Given the description of an element on the screen output the (x, y) to click on. 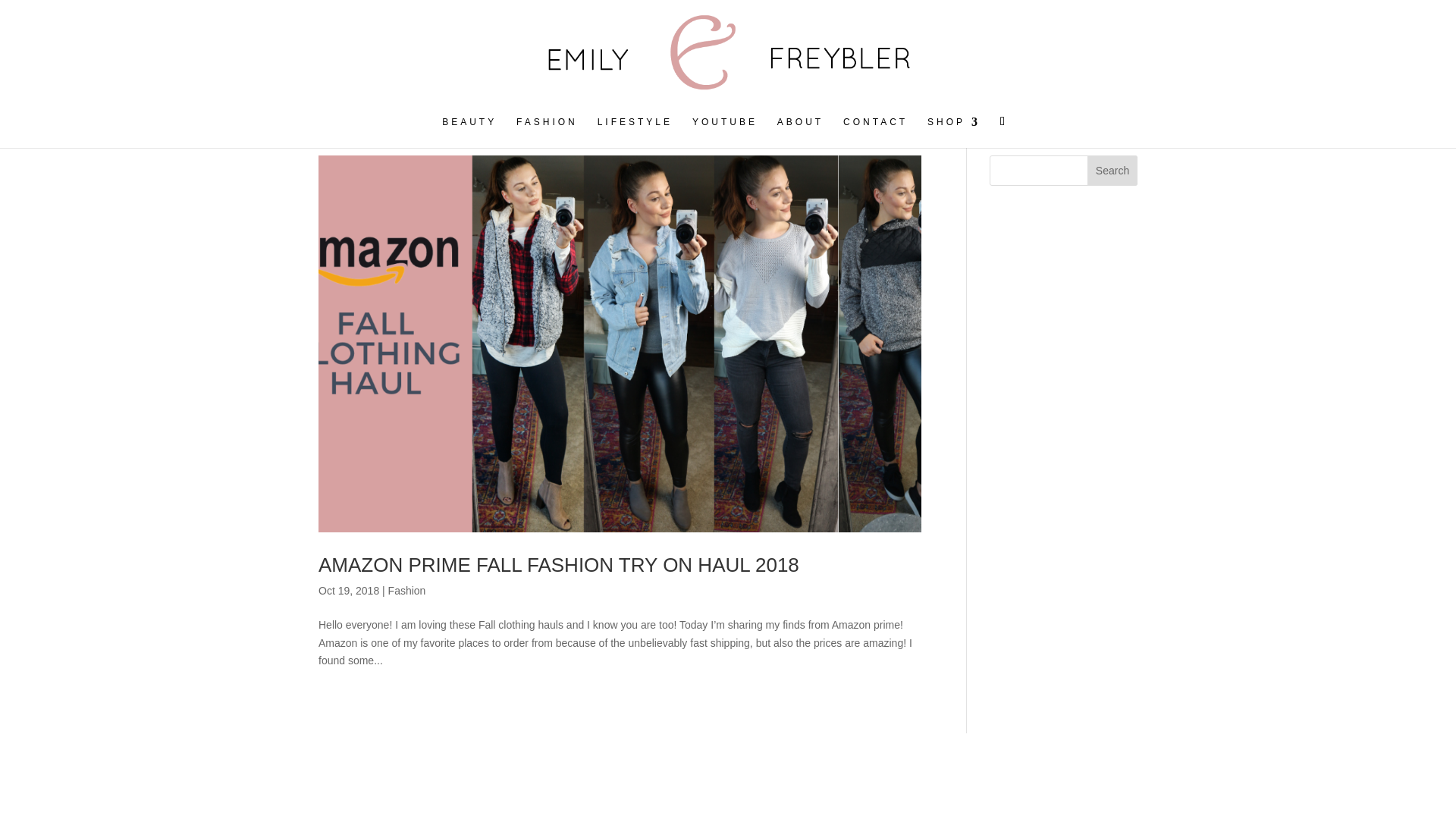
LIFESTYLE (634, 132)
ABOUT (800, 132)
Search (1112, 170)
Fashion (407, 590)
AMAZON PRIME FALL FASHION TRY ON HAUL 2018 (558, 564)
CONTACT (875, 132)
FASHION (547, 132)
BEAUTY (469, 132)
Search (1112, 170)
YOUTUBE (725, 132)
SHOP (953, 132)
